Given the description of an element on the screen output the (x, y) to click on. 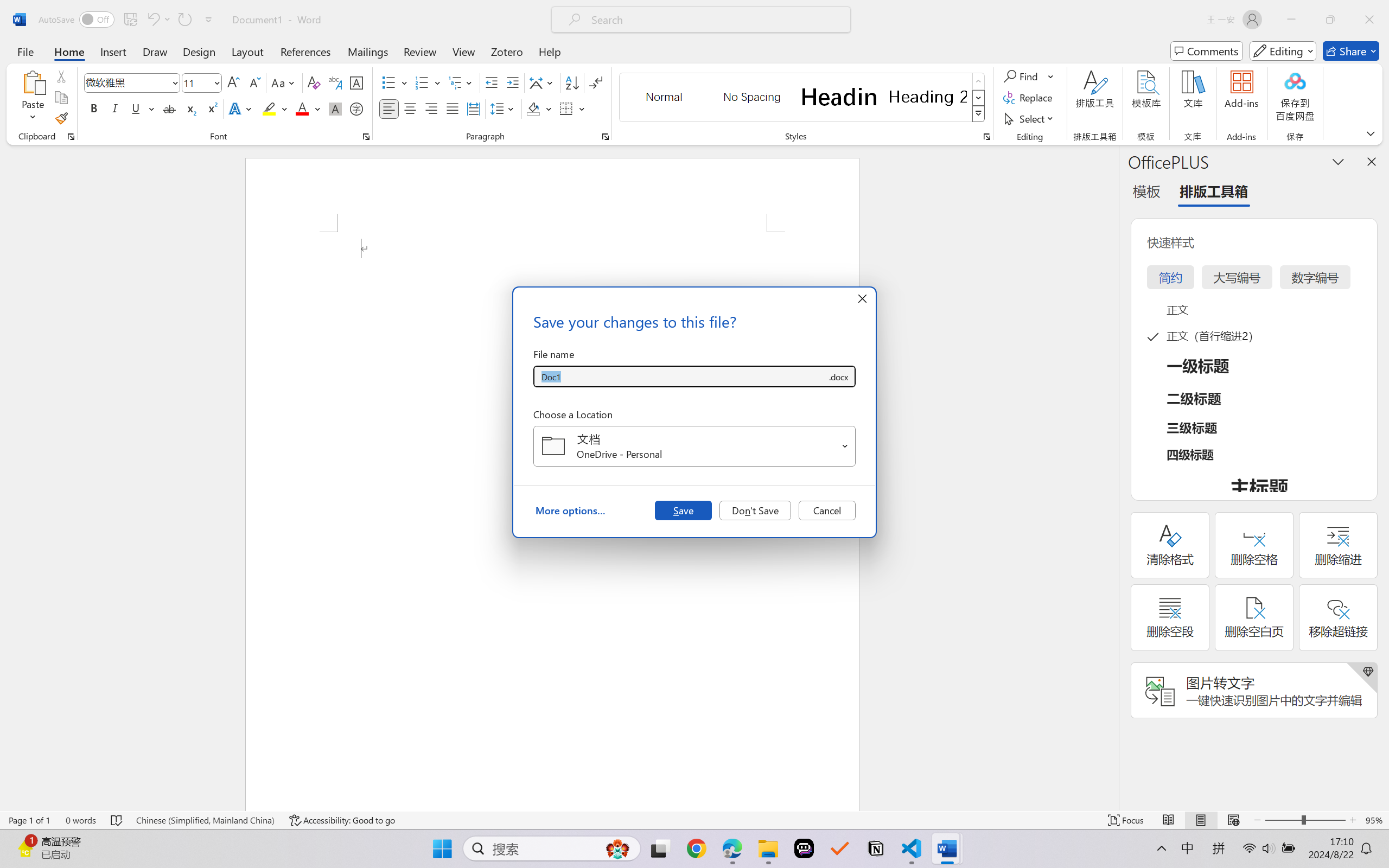
Cancel (826, 509)
Google Chrome (696, 848)
